Given the description of an element on the screen output the (x, y) to click on. 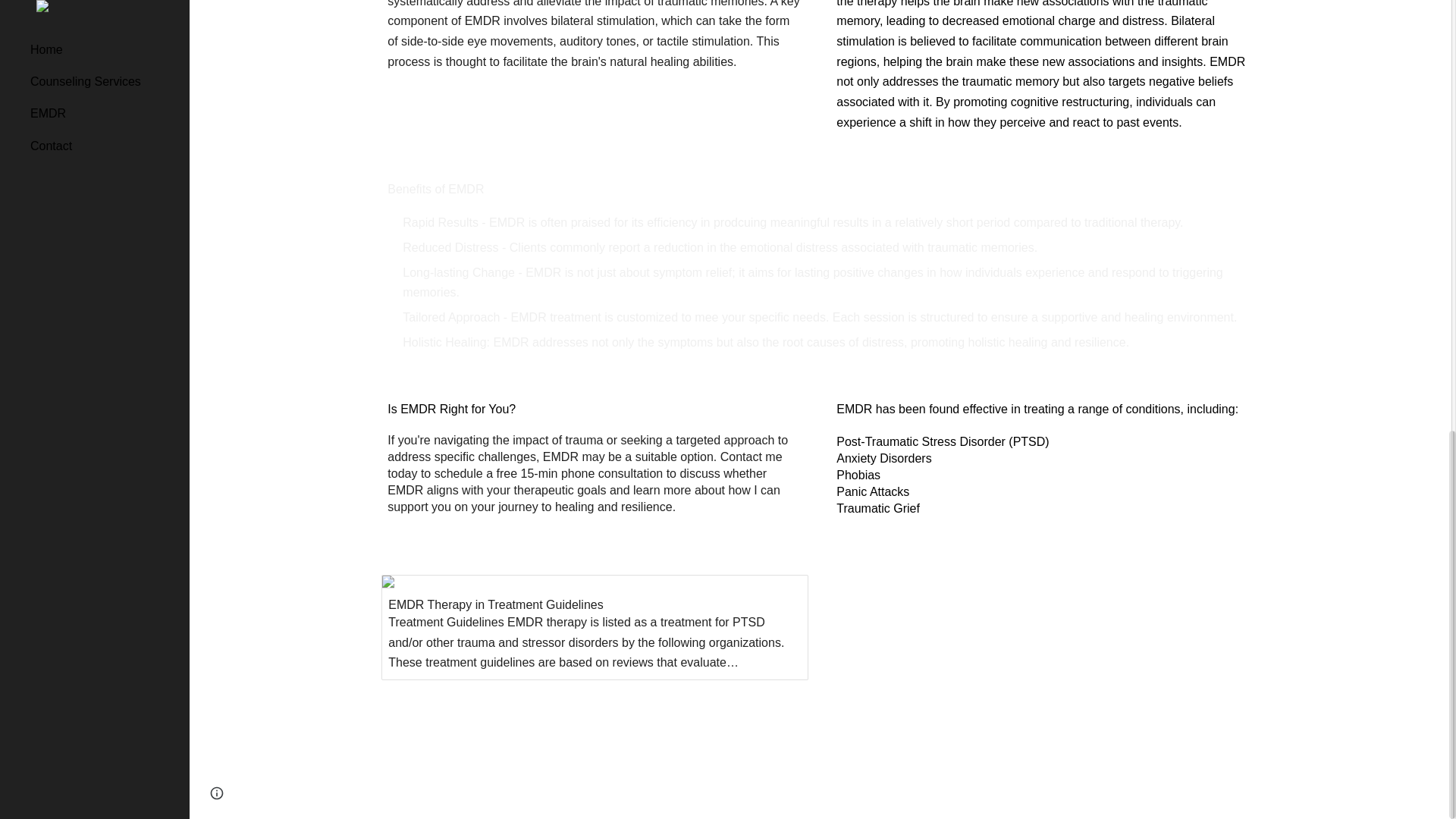
No Surprises Act (956, 744)
Notice of Privacy Practices (983, 729)
